Given the description of an element on the screen output the (x, y) to click on. 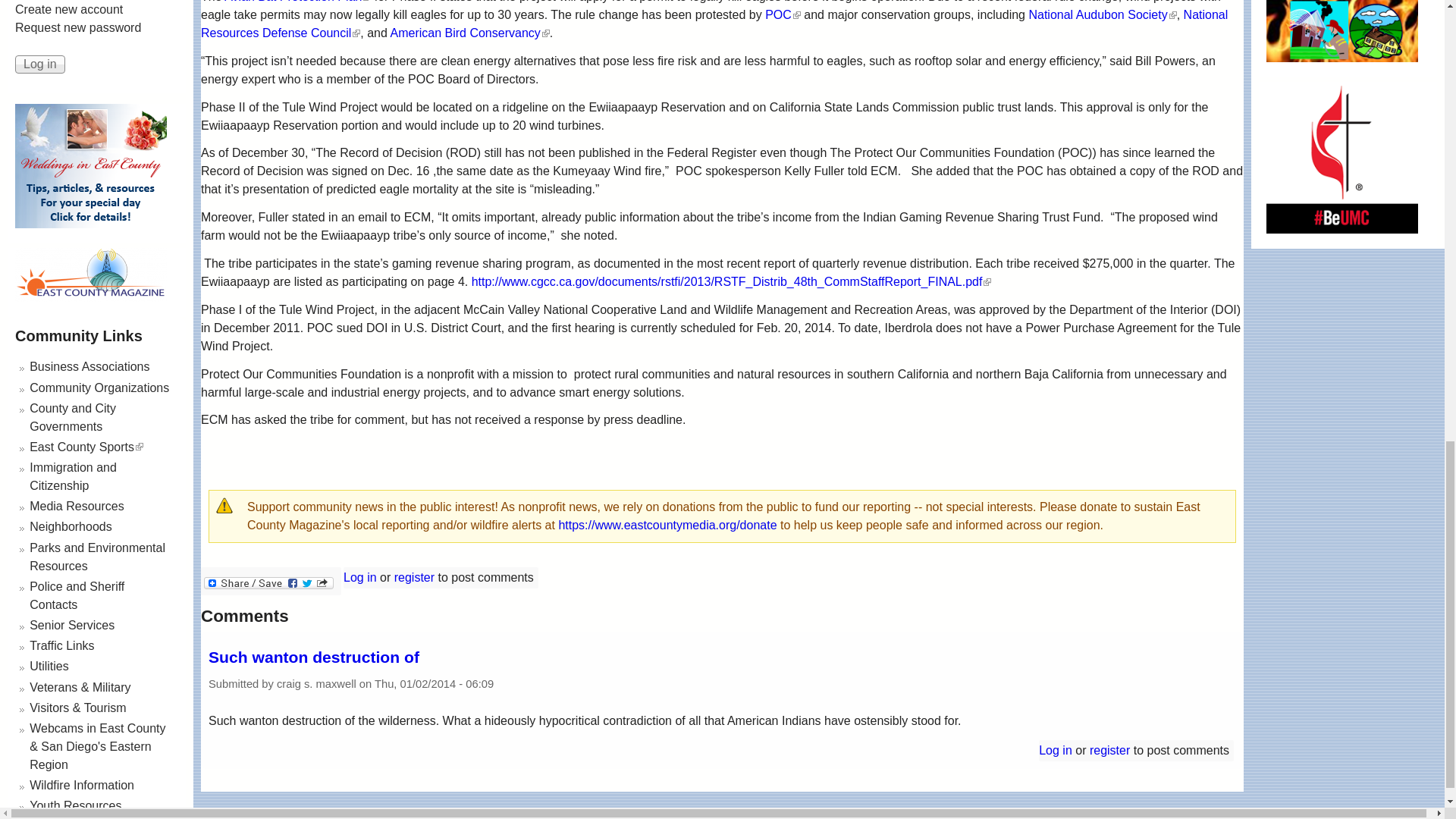
Log in (39, 64)
